Given the description of an element on the screen output the (x, y) to click on. 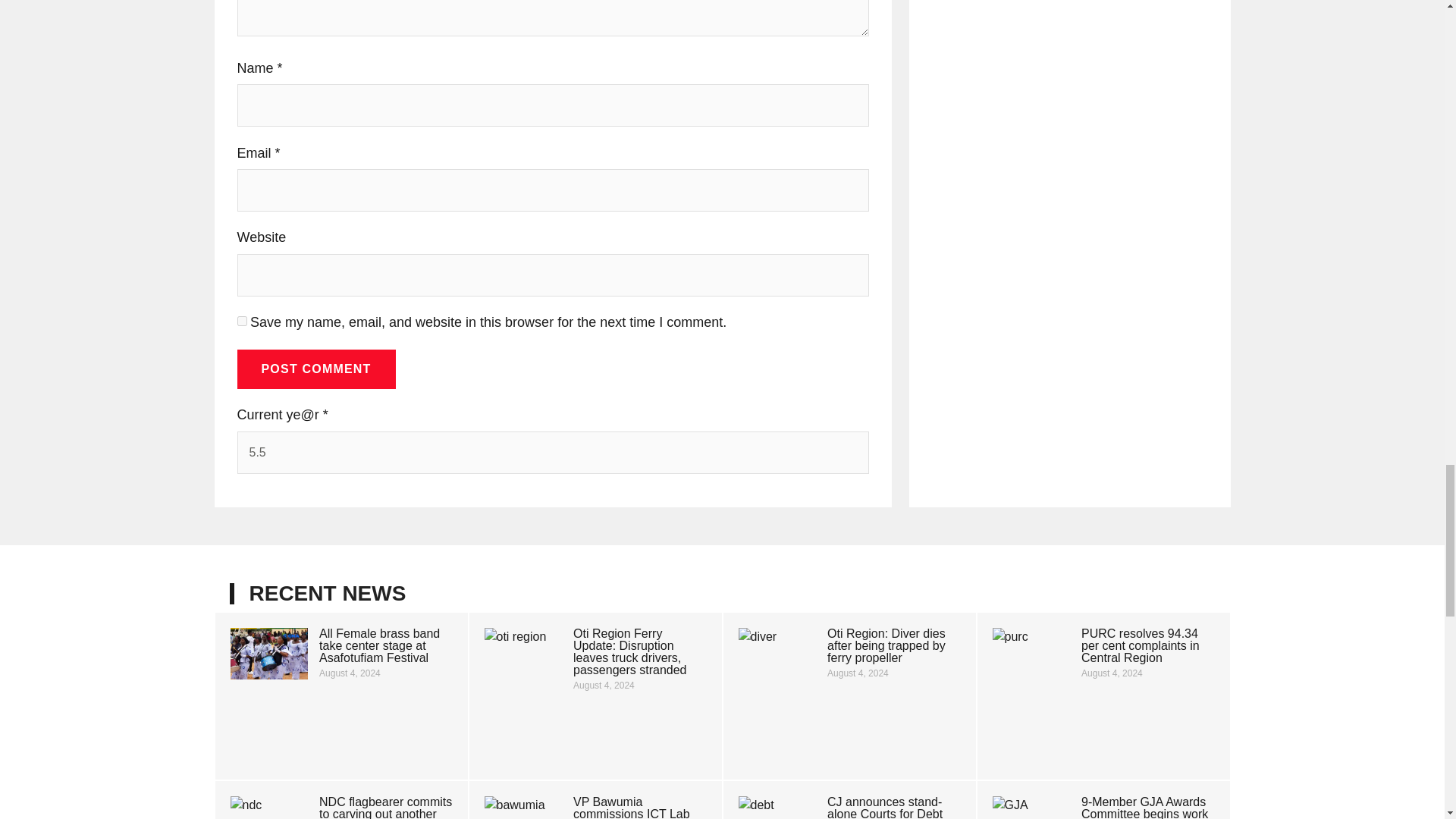
yes (240, 320)
5.5 (551, 452)
Post Comment (314, 369)
